Given the description of an element on the screen output the (x, y) to click on. 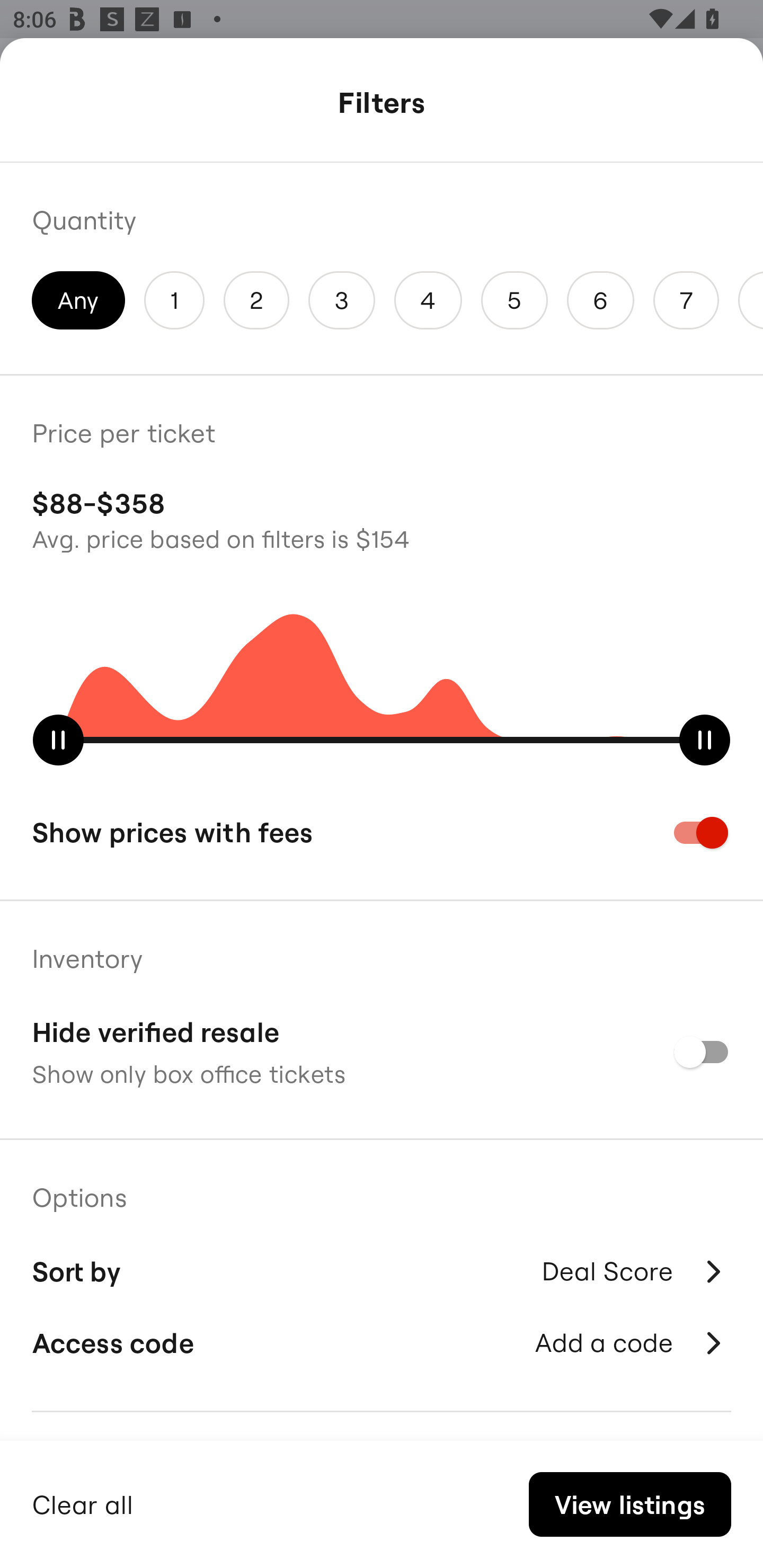
Any (78, 300)
1 (173, 300)
2 (256, 300)
3 (341, 300)
4 (427, 300)
5 (514, 300)
6 (601, 300)
7 (685, 300)
$88-$358 Avg. price based on filters is $154 (381, 518)
Show prices with fees (381, 832)
Hide verified resale Show only box office tickets (381, 1052)
Access code Add a code (381, 1342)
Clear all (83, 1502)
View listings (629, 1504)
